Given the description of an element on the screen output the (x, y) to click on. 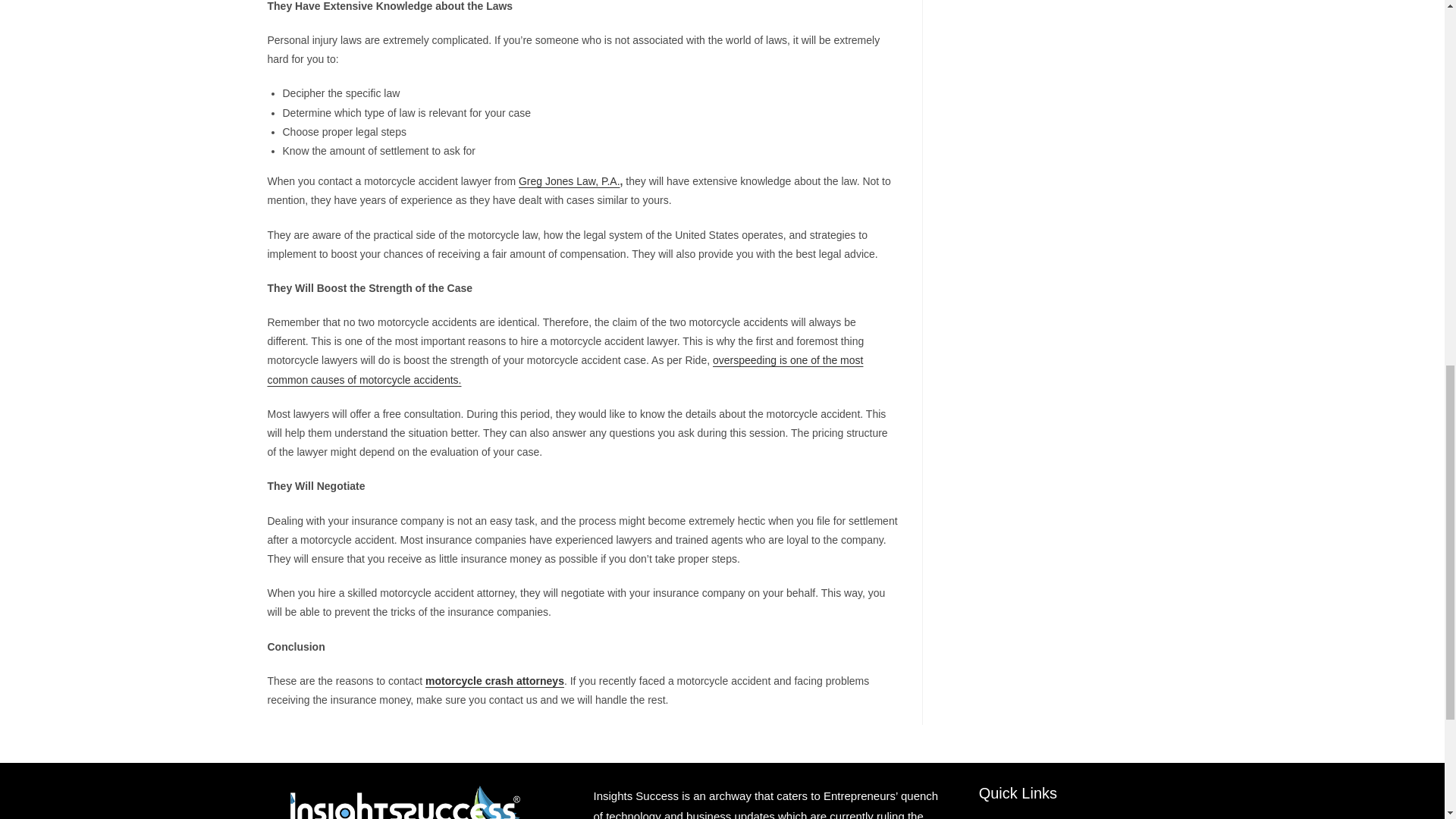
motorcycle crash attorneys (494, 680)
Greg Jones Law, P.A. (569, 181)
